Given the description of an element on the screen output the (x, y) to click on. 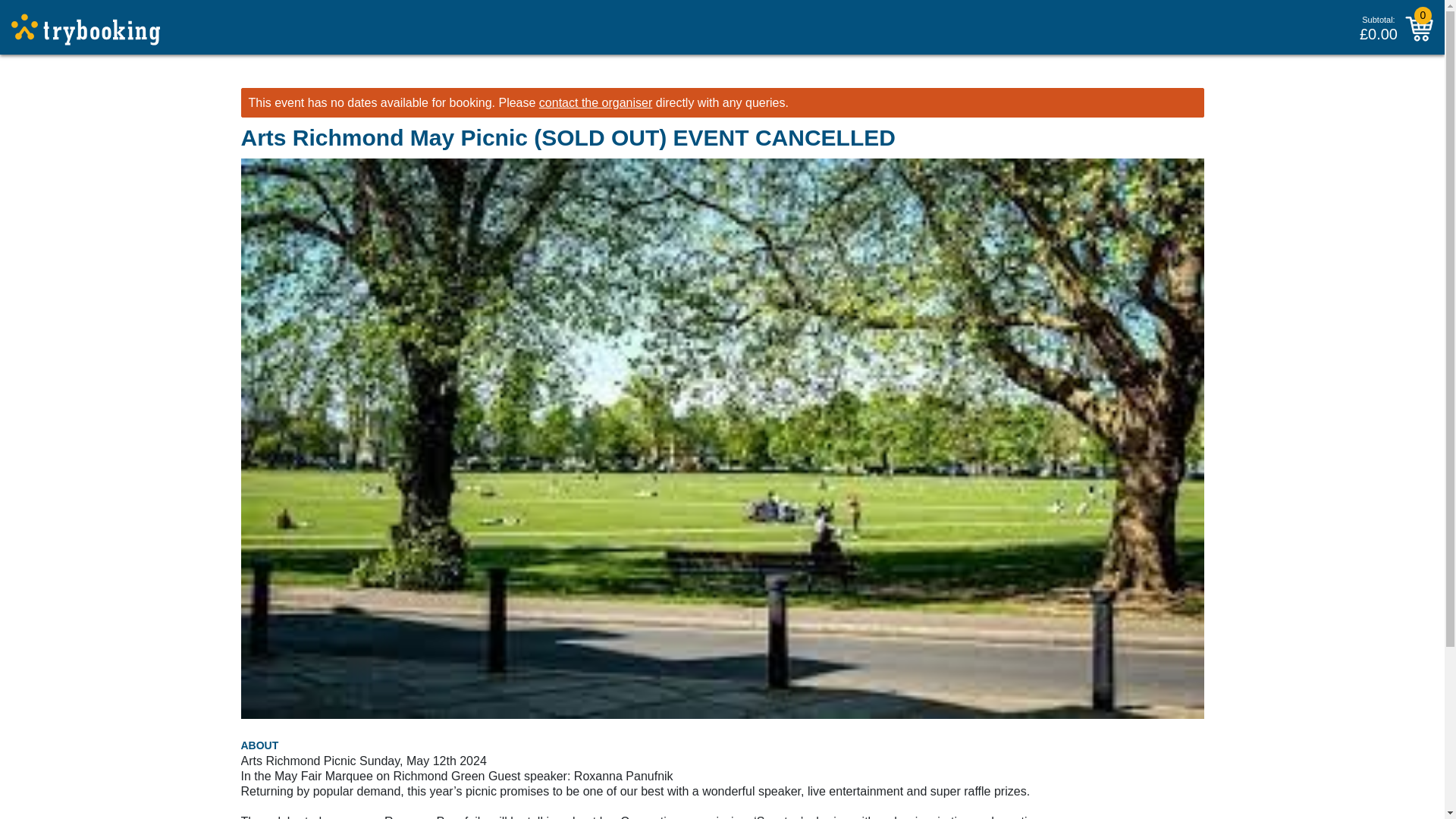
contact the organiser (595, 102)
TryBooking (85, 29)
